Given the description of an element on the screen output the (x, y) to click on. 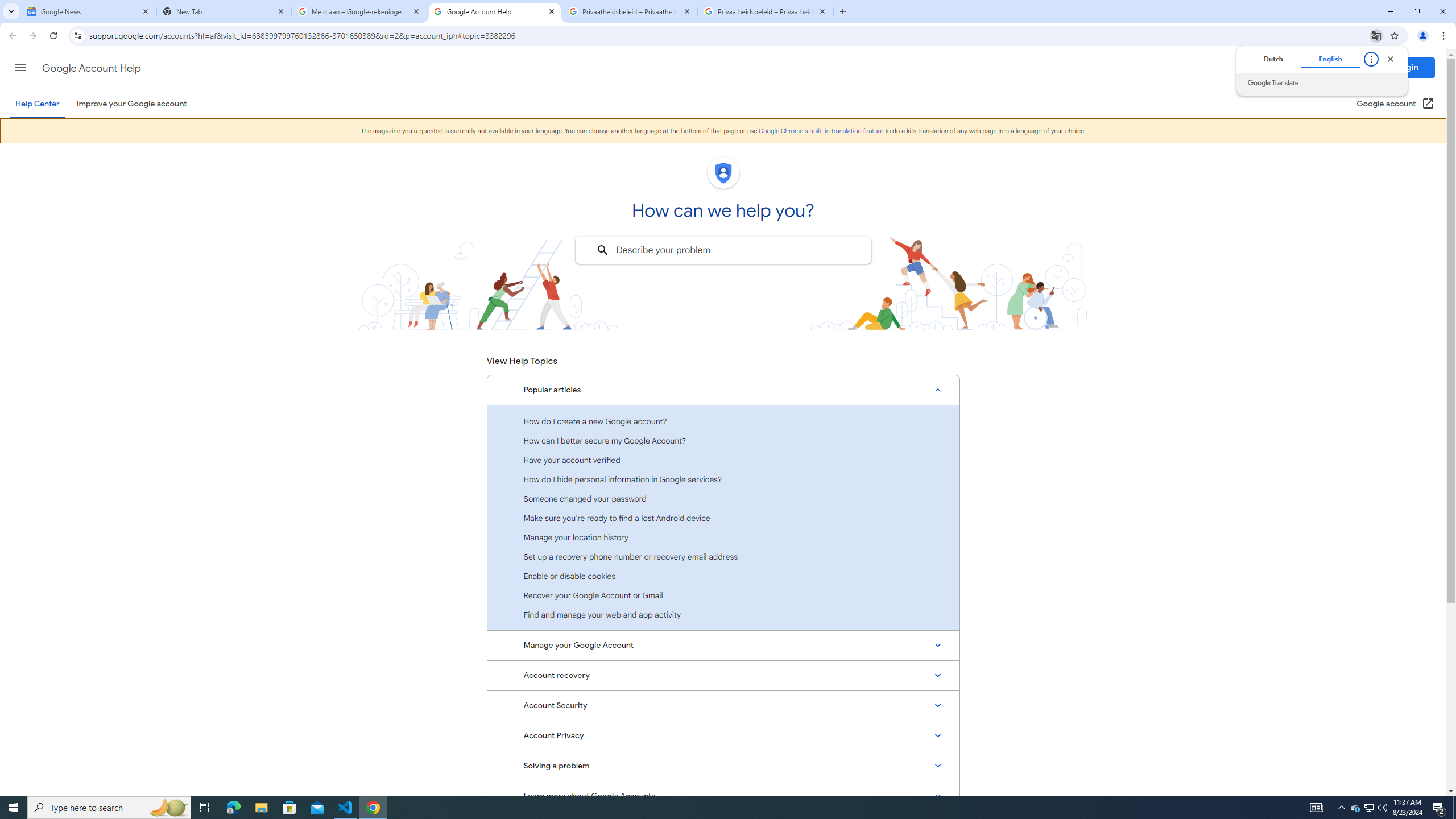
File Explorer (261, 807)
New Tab (224, 11)
Manage your location history (722, 537)
Translate this page (1376, 35)
Show desktop (1454, 807)
Account recovery (722, 675)
Microsoft Edge (233, 807)
Popular Articles, Expanded list of 11 items (722, 389)
